Given the description of an element on the screen output the (x, y) to click on. 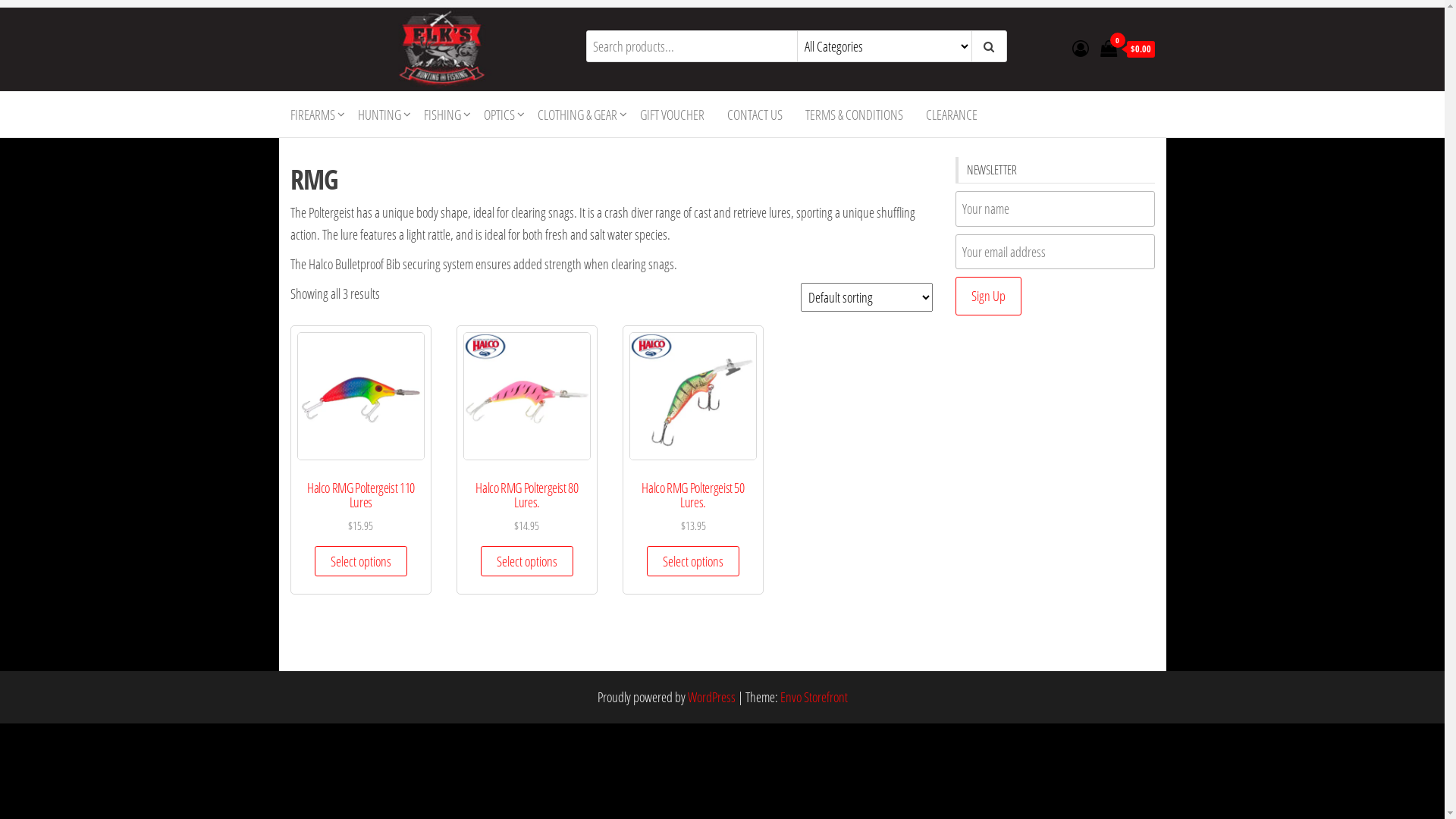
My Account Element type: hover (1080, 47)
Elks Hunting & Fishing | Online Fishing, Hunting & Camping Element type: text (324, 157)
CLEARANCE Element type: text (951, 114)
Select options Element type: text (526, 561)
CONTACT US Element type: text (754, 114)
Halco RMG Poltergeist 50 Lures.
$13.95 Element type: text (693, 451)
Envo Storefront Element type: text (813, 696)
WordPress Element type: text (710, 696)
HUNTING Element type: text (378, 114)
Select options Element type: text (360, 561)
Halco RMG Poltergeist 80 Lures.
$14.95 Element type: text (527, 451)
TERMS & CONDITIONS Element type: text (853, 114)
0
$0.00 Element type: text (1126, 48)
Sign Up Element type: text (988, 295)
CLOTHING & GEAR Element type: text (577, 114)
OPTICS Element type: text (498, 114)
Select options Element type: text (692, 561)
FIREARMS Element type: text (312, 114)
FISHING Element type: text (442, 114)
GIFT VOUCHER Element type: text (671, 114)
Halco RMG Poltergeist 110 Lures
$15.95 Element type: text (361, 451)
